Given the description of an element on the screen output the (x, y) to click on. 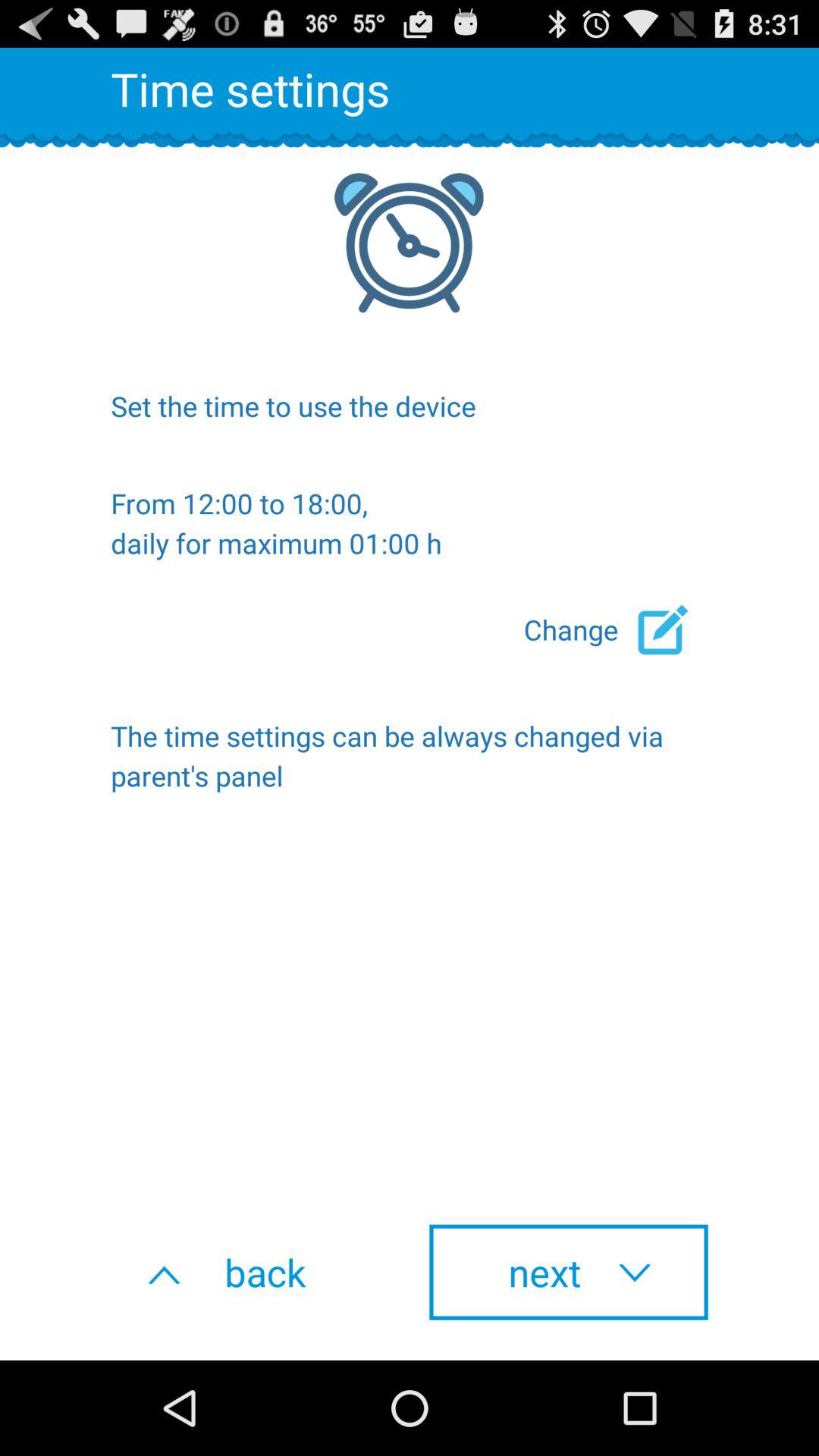
turn on the next button (568, 1272)
